Given the description of an element on the screen output the (x, y) to click on. 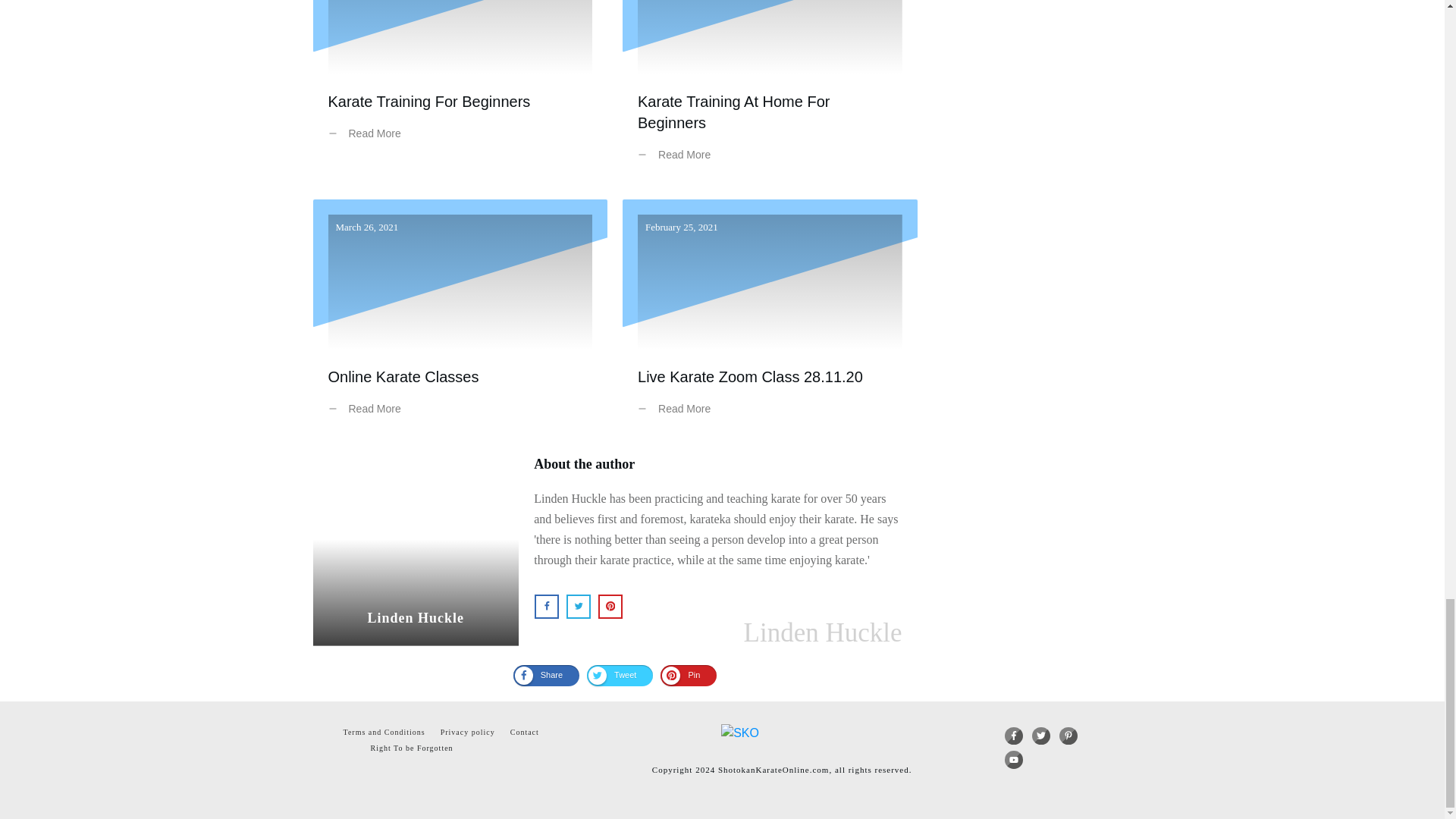
Tweet (619, 675)
Read More (677, 408)
Karate Training For Beginners (460, 92)
Karate Training At Home For Beginners (733, 112)
Online Karate Classes (460, 318)
Karate Training At Home For Beginners (770, 92)
Live Karate Zoom Class 28.11.20 (750, 376)
Pin (688, 675)
Read More (367, 408)
Online Karate Classes (403, 376)
